Given the description of an element on the screen output the (x, y) to click on. 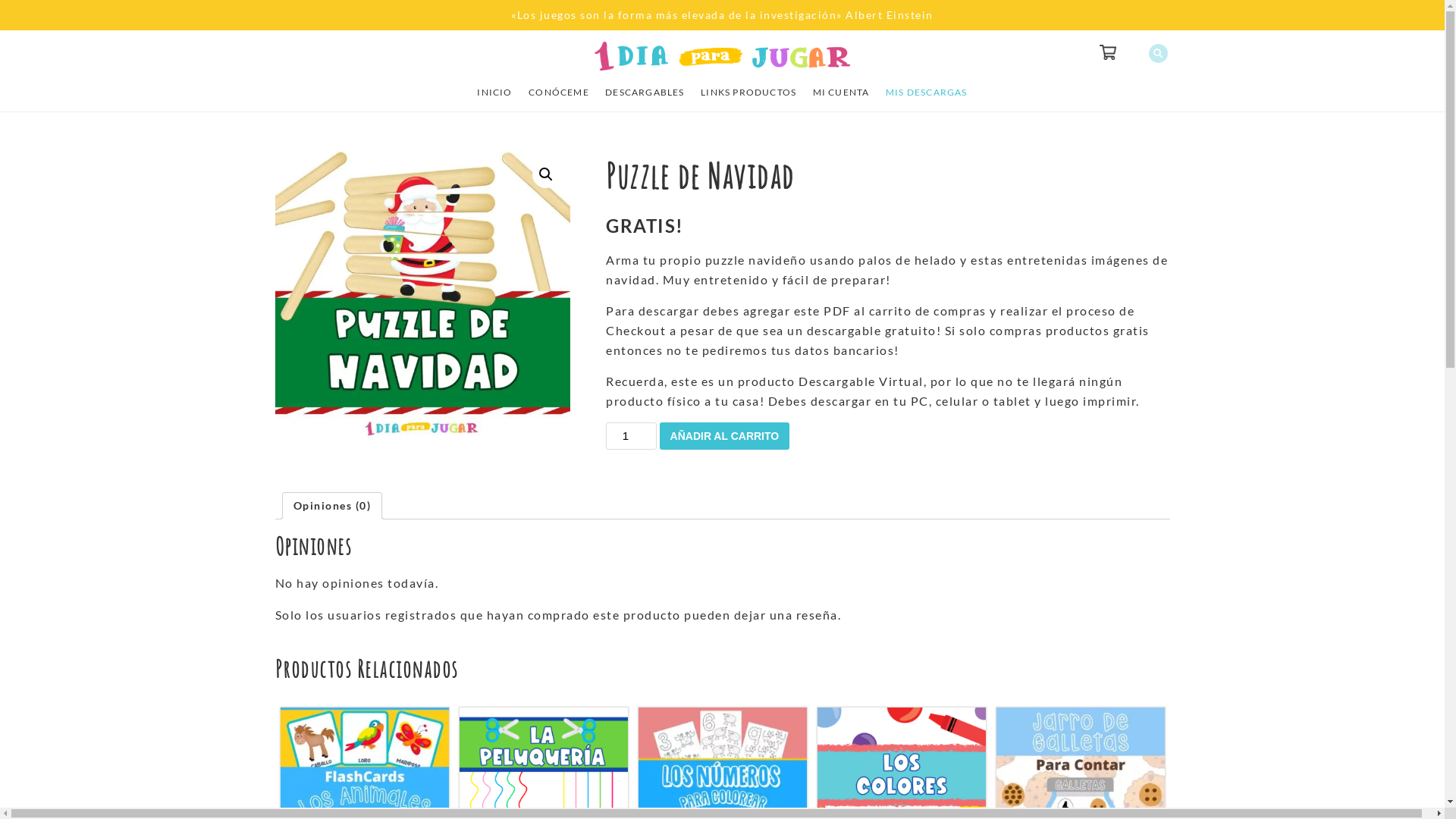
Opiniones (0) Element type: text (331, 505)
LINKS PRODUCTOS Element type: text (748, 92)
MIS DESCARGAS Element type: text (926, 92)
INICIO Element type: text (494, 92)
Cantidad Element type: hover (630, 435)
DESCARGABLES Element type: text (644, 92)
MI CUENTA Element type: text (841, 92)
Portadas (7) Element type: hover (421, 297)
